Given the description of an element on the screen output the (x, y) to click on. 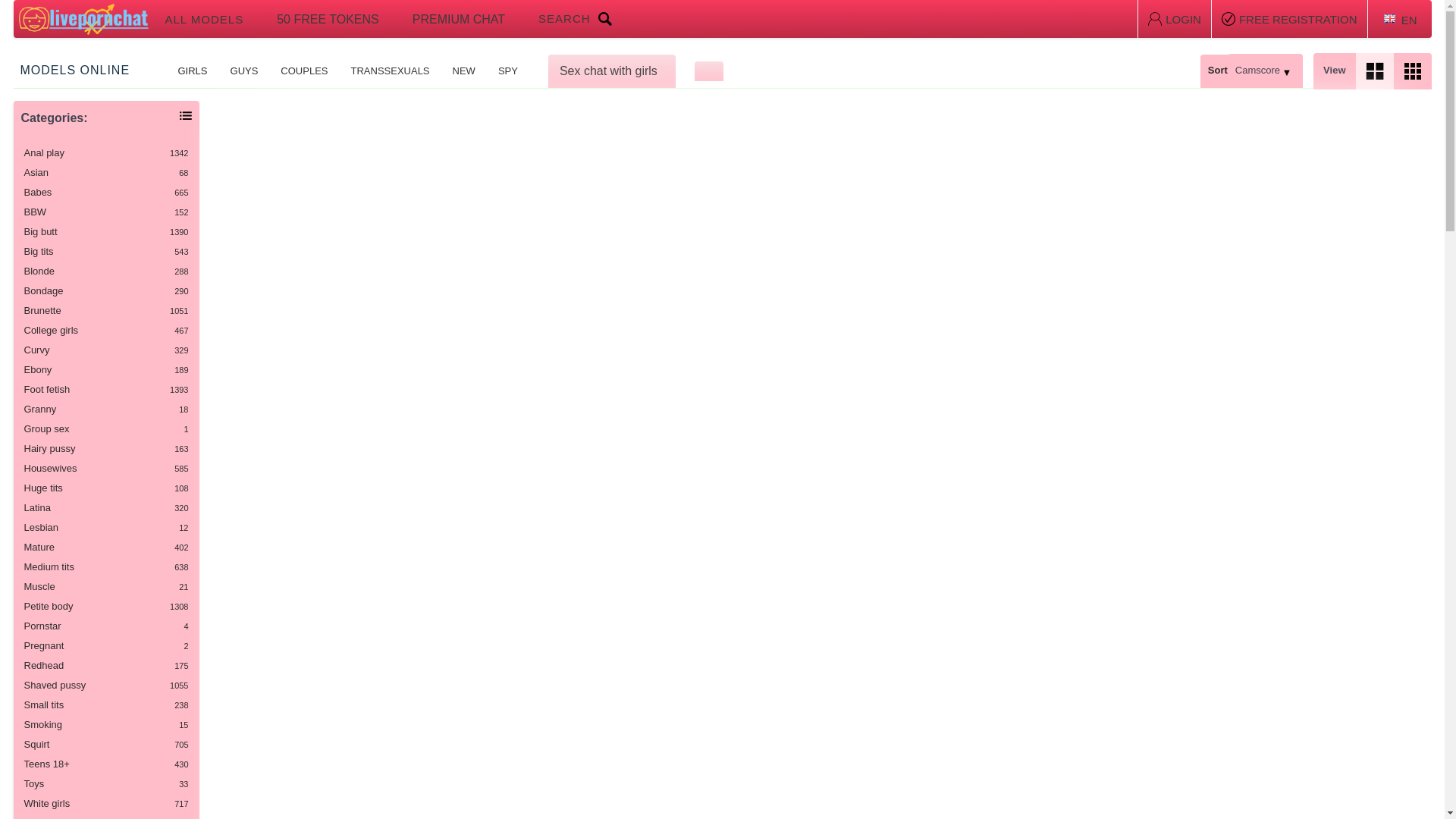
TRANSSEXUALS (390, 70)
ALL MODELS (106, 290)
Live Sex Porn (106, 546)
GUYS (106, 270)
NEW (106, 192)
